Given the description of an element on the screen output the (x, y) to click on. 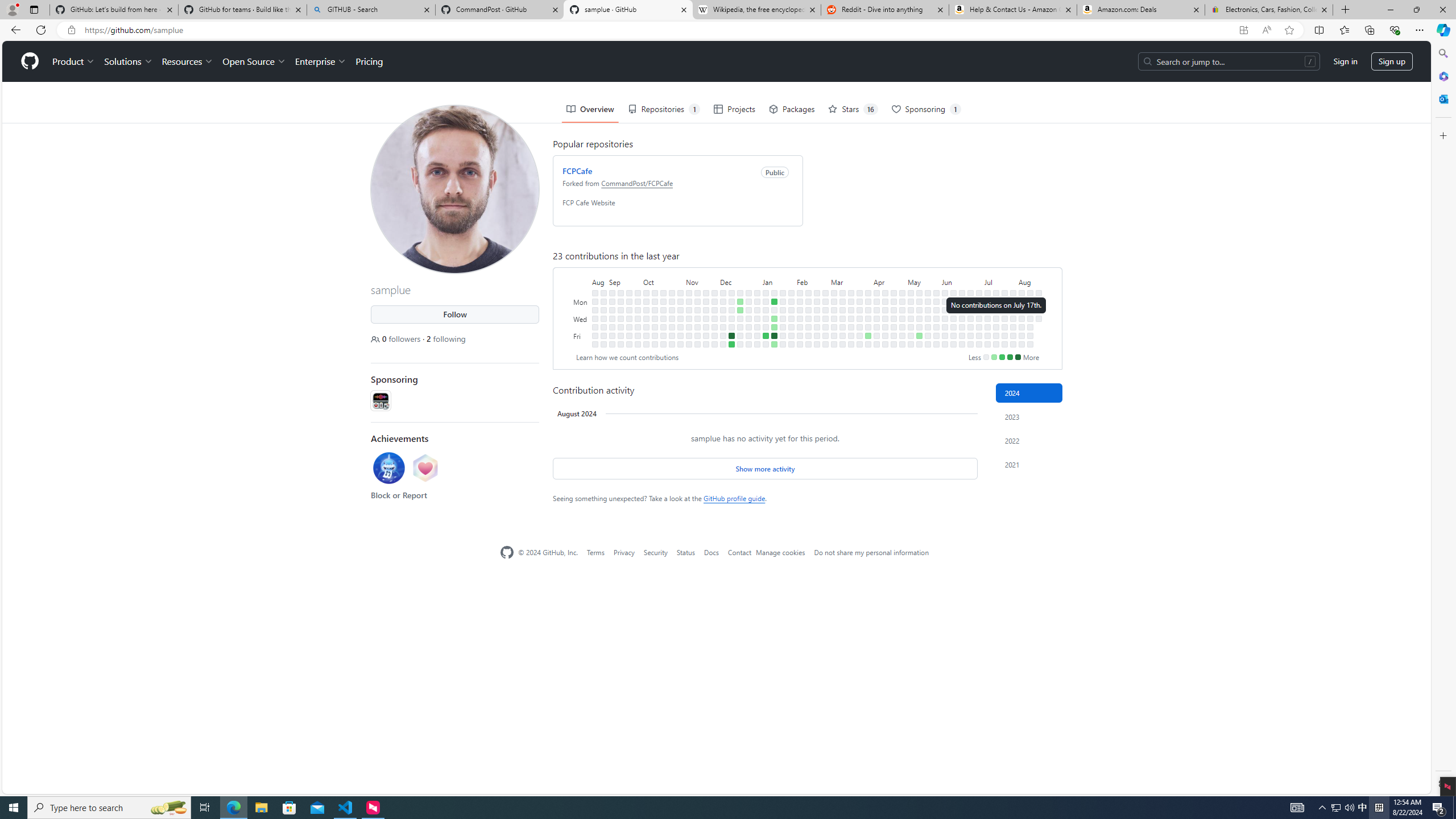
No contributions on February 24th. (816, 343)
No contributions on January 23rd. (783, 309)
Learn how we count contributions (627, 356)
No contributions on September 7th. (611, 326)
No contributions on August 8th. (1022, 326)
No contributions on October 8th. (655, 292)
1 contribution on January 17th. (774, 318)
No contributions on April 4th. (867, 326)
No contributions on April 8th. (876, 301)
No contributions on September 12th. (620, 309)
No contributions on January 30th. (790, 309)
No contributions on March 26th. (859, 309)
No contributions on July 2nd. (978, 309)
No contributions on April 25th. (893, 326)
